Given the description of an element on the screen output the (x, y) to click on. 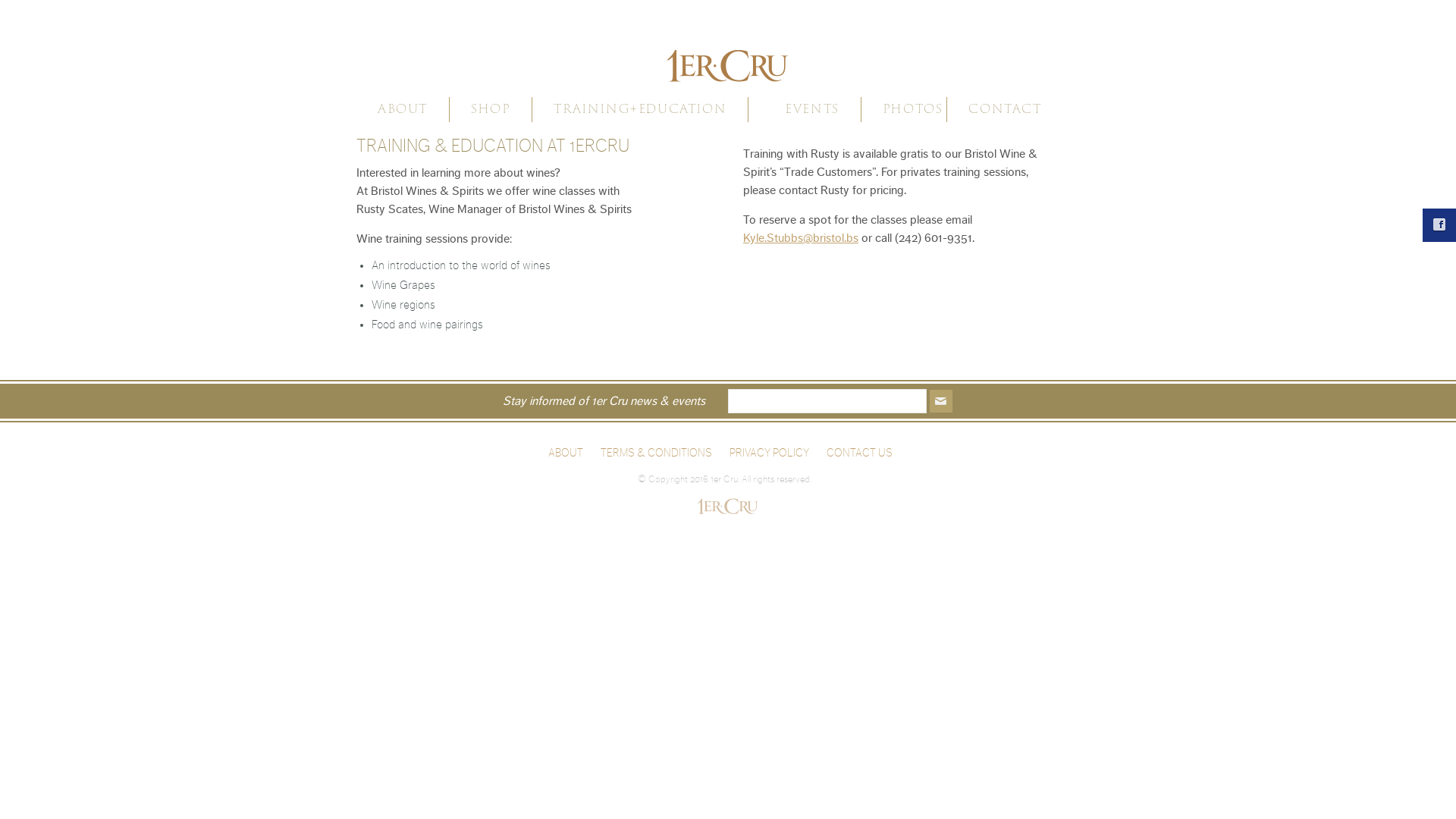
PRIVACY POLICY Element type: text (769, 452)
subscribe Element type: text (940, 400)
CONTACT Element type: text (1004, 108)
TRAINING+EDUCATION Element type: text (639, 108)
Kyle.Stubbs@bristol.bs Element type: text (800, 238)
EVENTS Element type: text (812, 108)
CONTACT US Element type: text (859, 452)
SHOP Element type: text (490, 108)
ABOUT Element type: text (565, 452)
PHOTOS Element type: text (912, 108)
TERMS & CONDITIONS Element type: text (656, 452)
ABOUT Element type: text (402, 108)
1er Cru Element type: hover (727, 55)
